Given the description of an element on the screen output the (x, y) to click on. 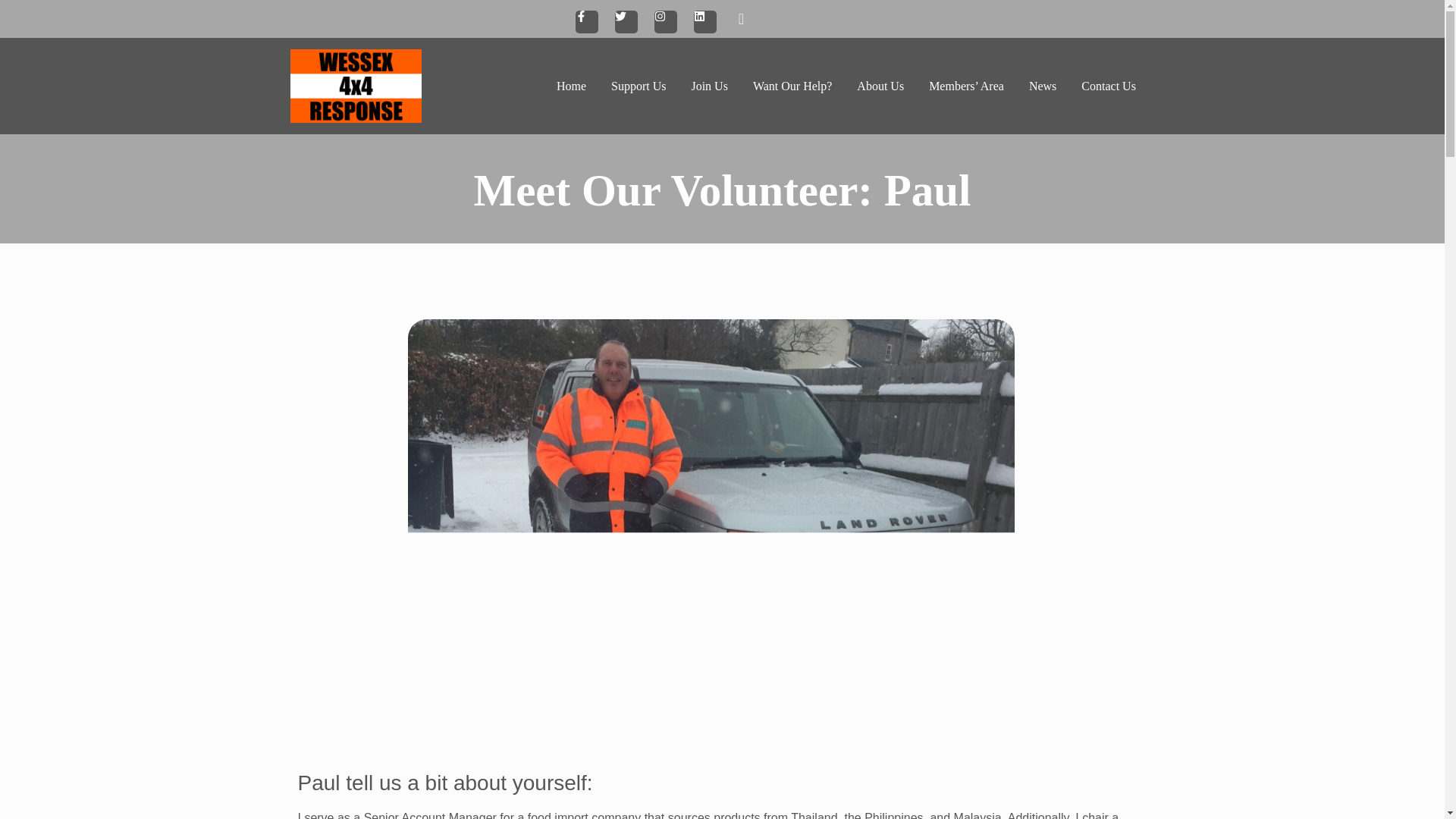
About Us (880, 85)
Join Us (708, 85)
Support Us (638, 85)
Contact Us (1108, 85)
Want Our Help? (792, 85)
